Given the description of an element on the screen output the (x, y) to click on. 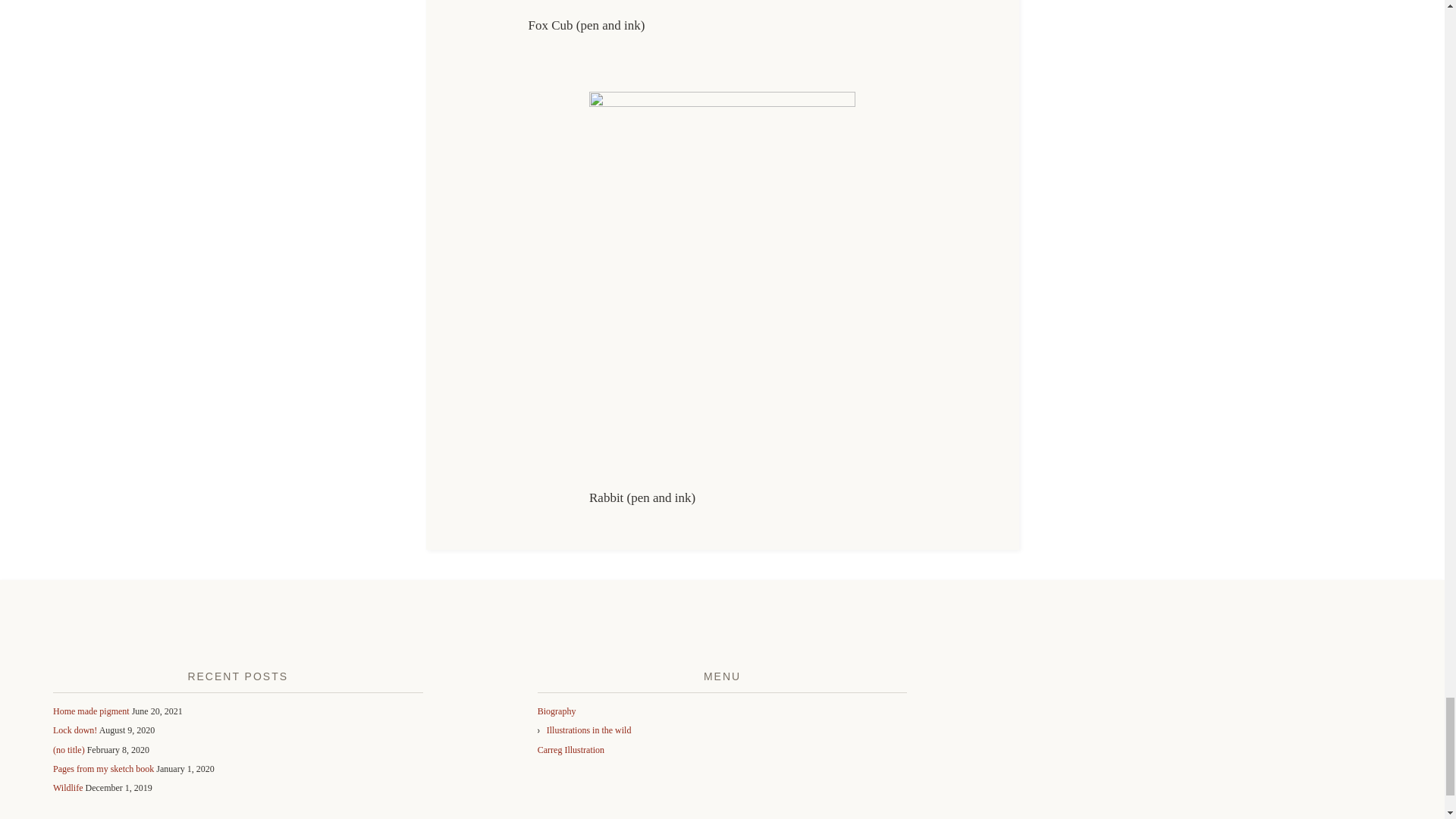
Wildlife (67, 787)
Illustrations in the wild (589, 729)
Pages from my sketch book (103, 768)
Lock down! (74, 729)
Biography (556, 710)
Home made pigment (90, 710)
Carreg Illustration (570, 749)
